Given the description of an element on the screen output the (x, y) to click on. 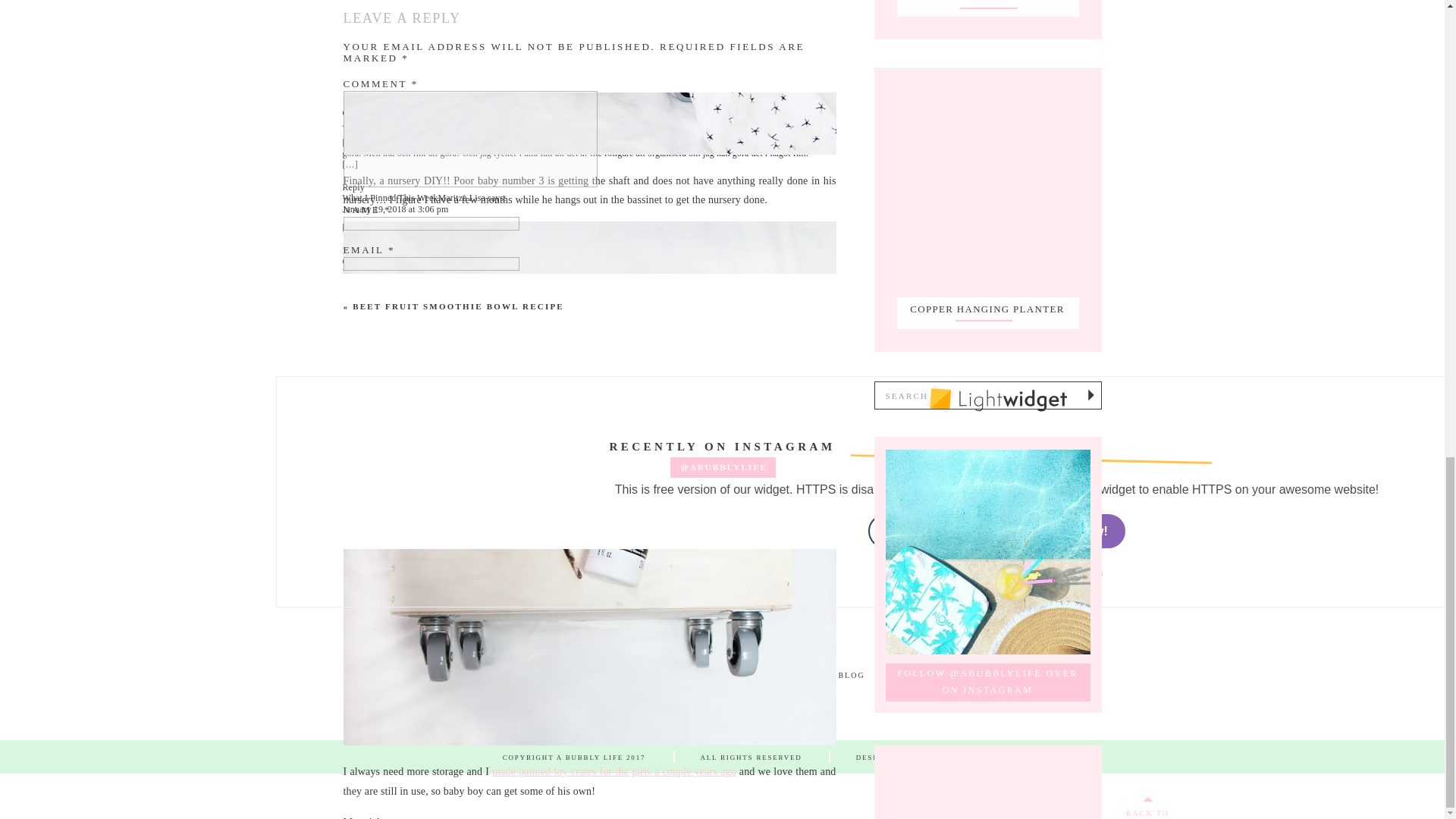
subscribe (350, 386)
"NAKED" FLORAL DONUTS (988, 1)
yes (350, 329)
COPPER HANGING PLANTER (986, 309)
subscribe (350, 415)
made painted toy crates for the girls a couple years ago (614, 771)
toy crates (614, 771)
Post Comment (379, 457)
